Given the description of an element on the screen output the (x, y) to click on. 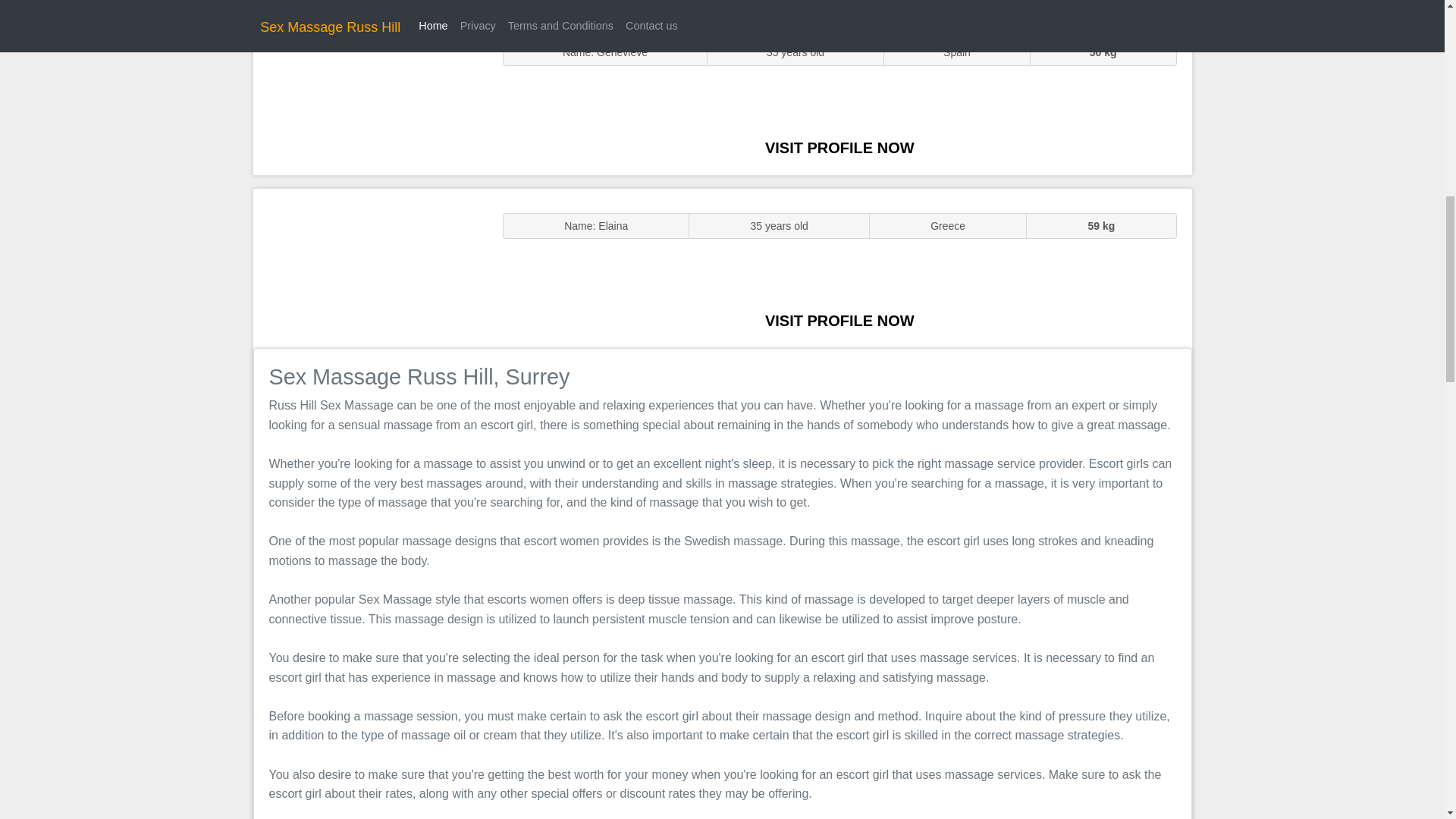
VISIT PROFILE NOW (839, 320)
VISIT PROFILE NOW (839, 147)
Sluts (370, 94)
Massage (370, 267)
